Given the description of an element on the screen output the (x, y) to click on. 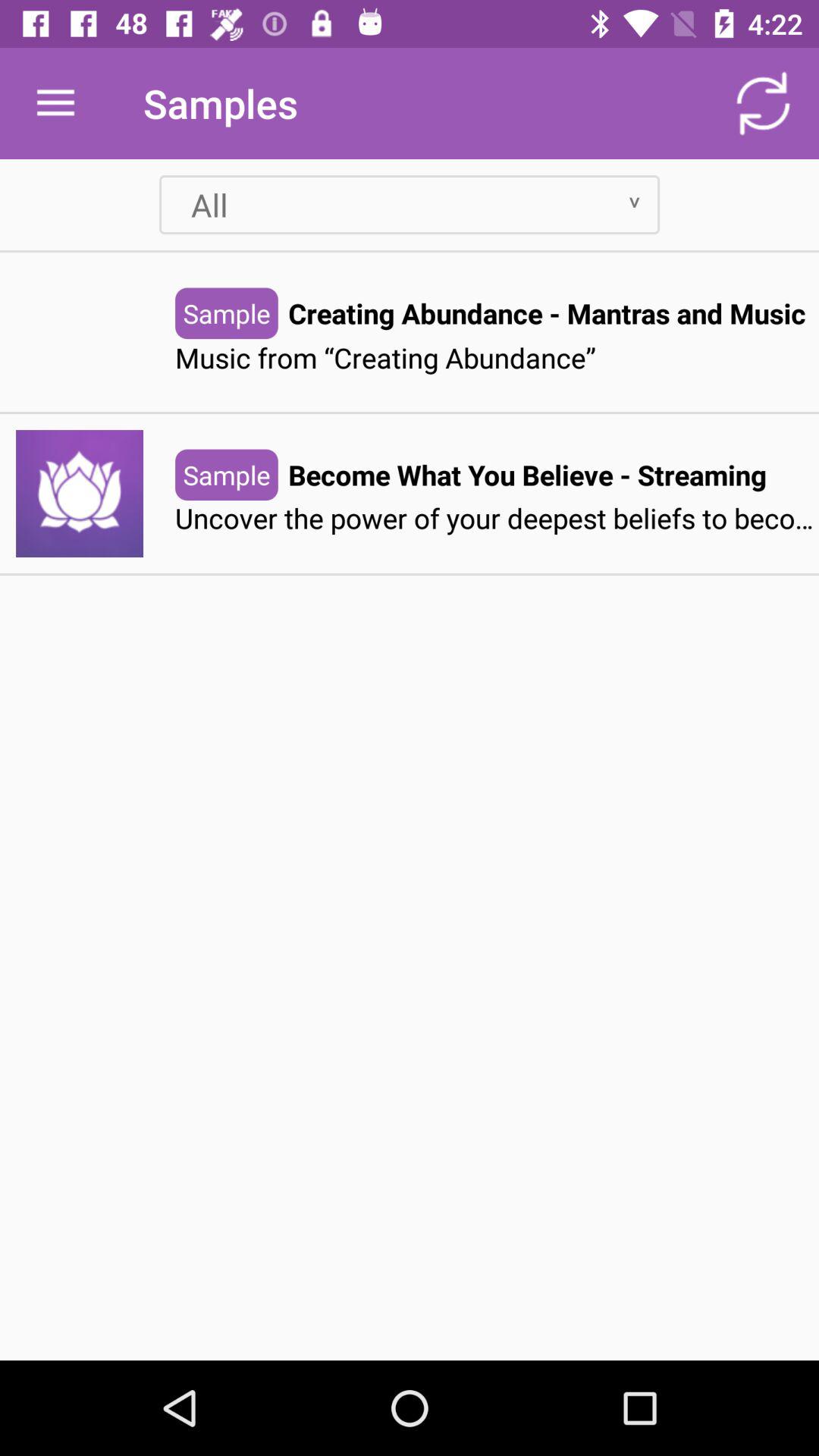
select the icon below the music from creating item (527, 474)
